Given the description of an element on the screen output the (x, y) to click on. 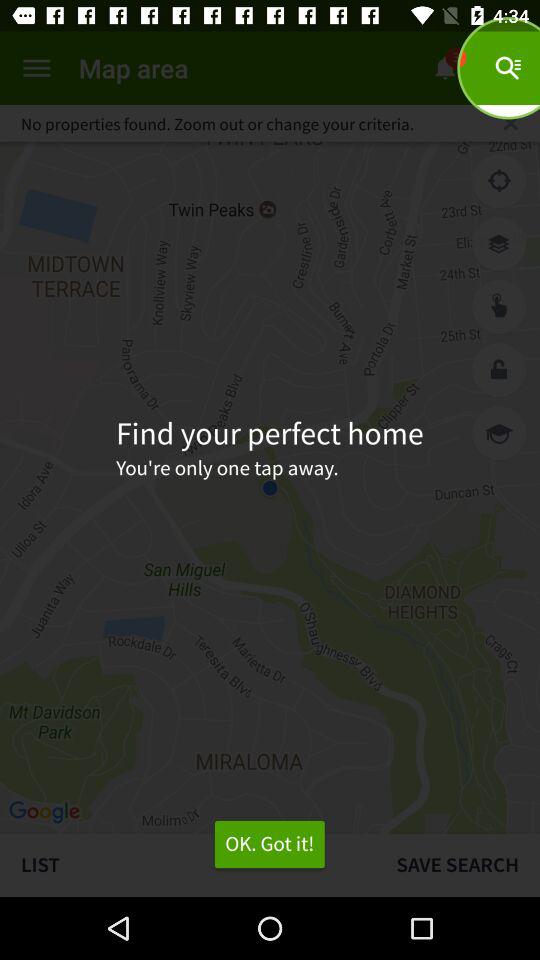
unlock screen (499, 370)
